Given the description of an element on the screen output the (x, y) to click on. 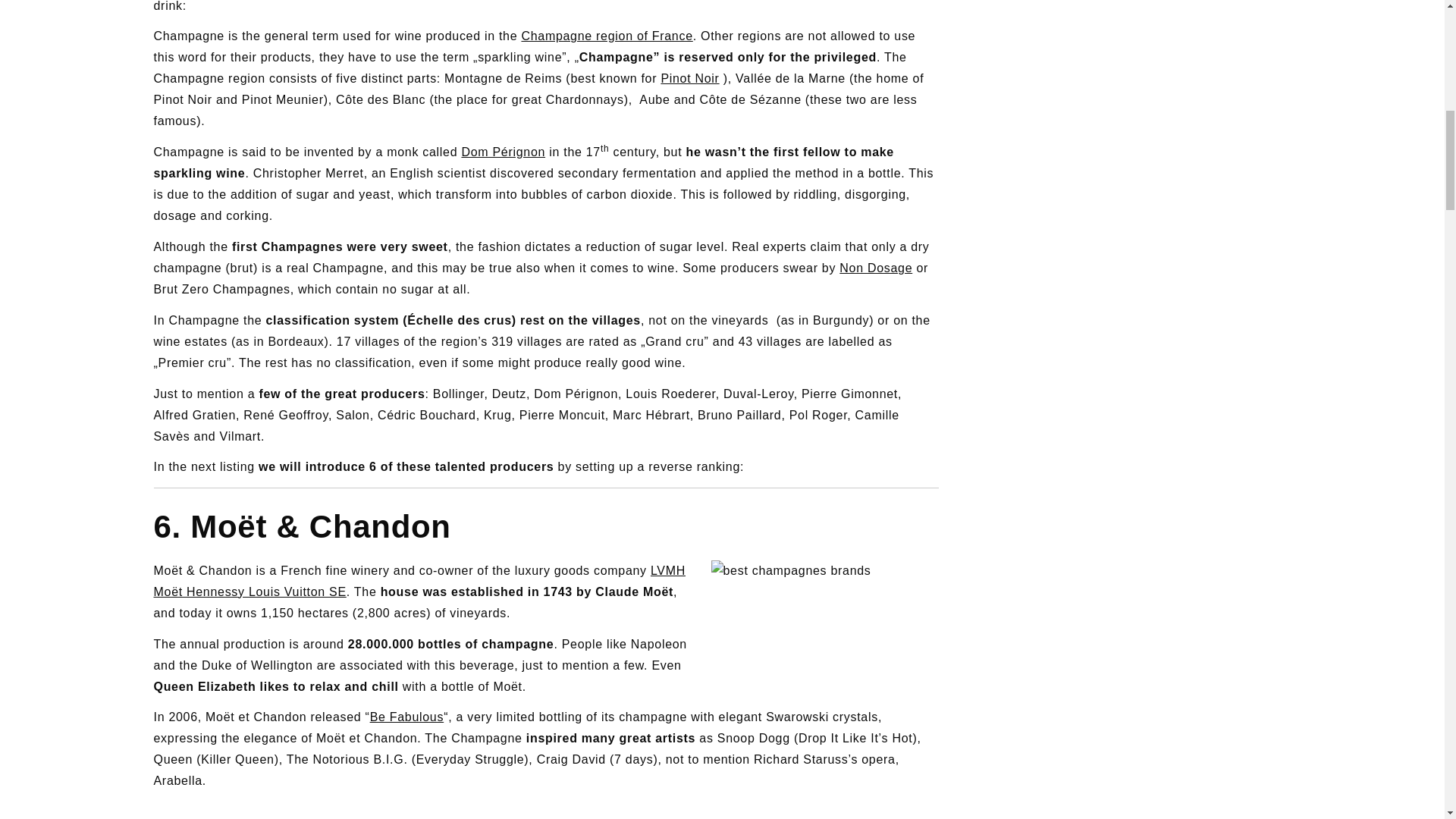
Champagne region of France (607, 35)
Pinot Noir (690, 78)
Non Dosage (876, 267)
Be Fabulous (406, 716)
